Given the description of an element on the screen output the (x, y) to click on. 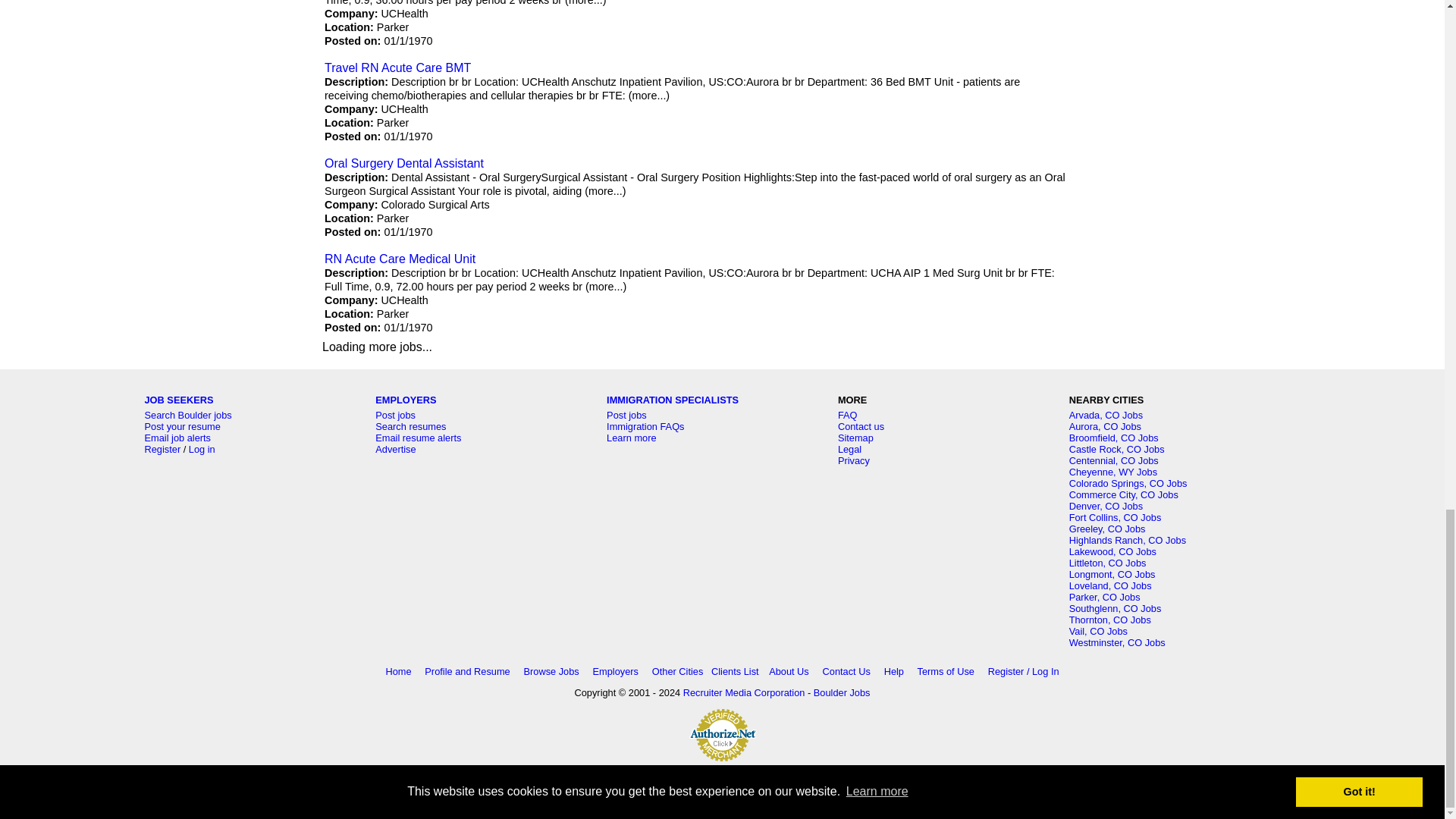
Travel RN Acute Care BMT (397, 67)
Oral Surgery Dental Assistant (403, 163)
RN Acute Care Medical Unit (400, 258)
